Given the description of an element on the screen output the (x, y) to click on. 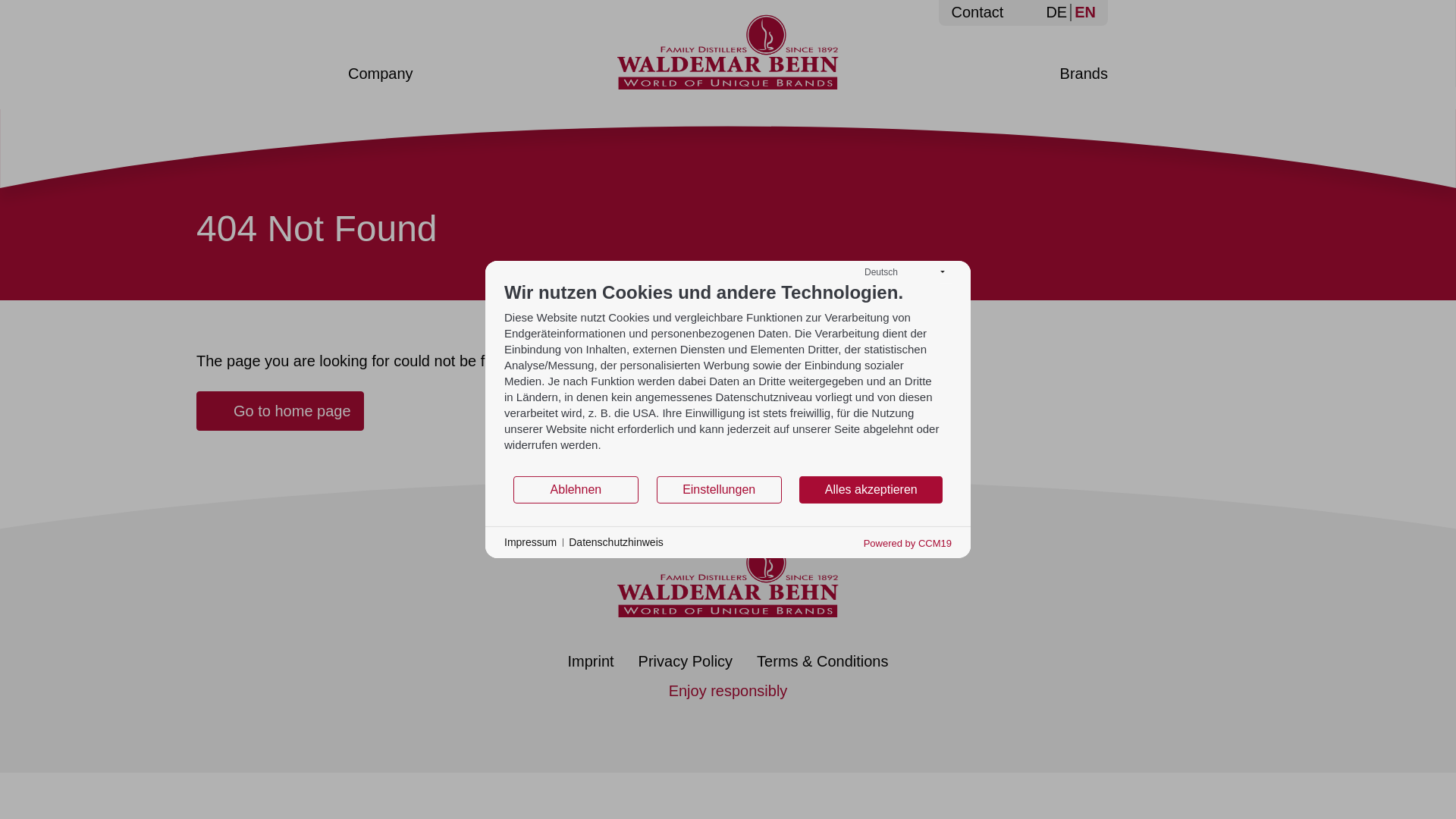
DE (1056, 12)
Contact (976, 12)
YouTube (791, 727)
Brands (1083, 73)
EN (1083, 12)
Company (380, 73)
Go to home page (280, 410)
Facebook (663, 727)
LinkedIn (706, 727)
XING (748, 727)
Enjoy responsibly (727, 691)
Imprint (589, 661)
